Given the description of an element on the screen output the (x, y) to click on. 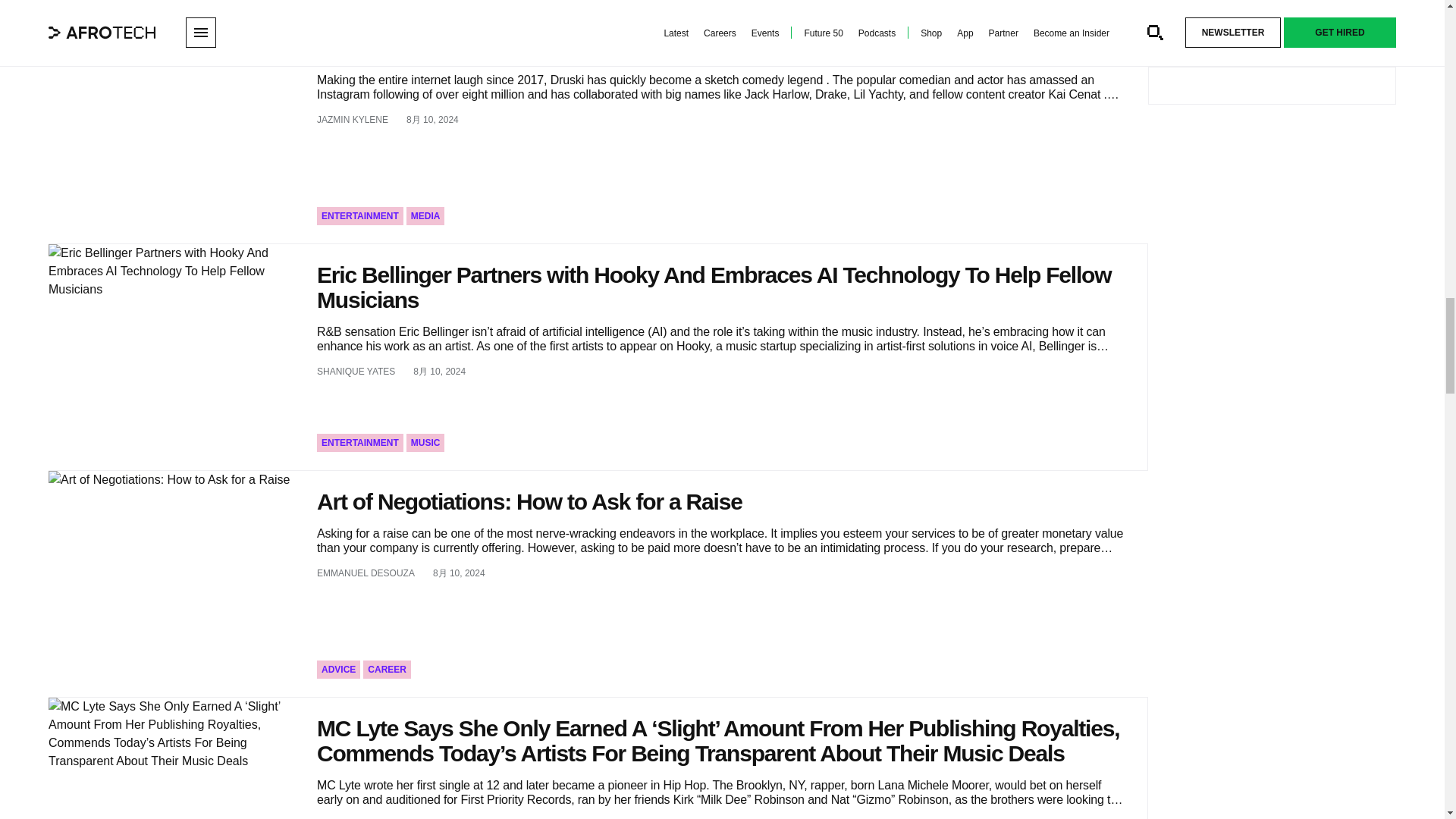
Art of Negotiations: How to Ask for a Raise (173, 583)
